Given the description of an element on the screen output the (x, y) to click on. 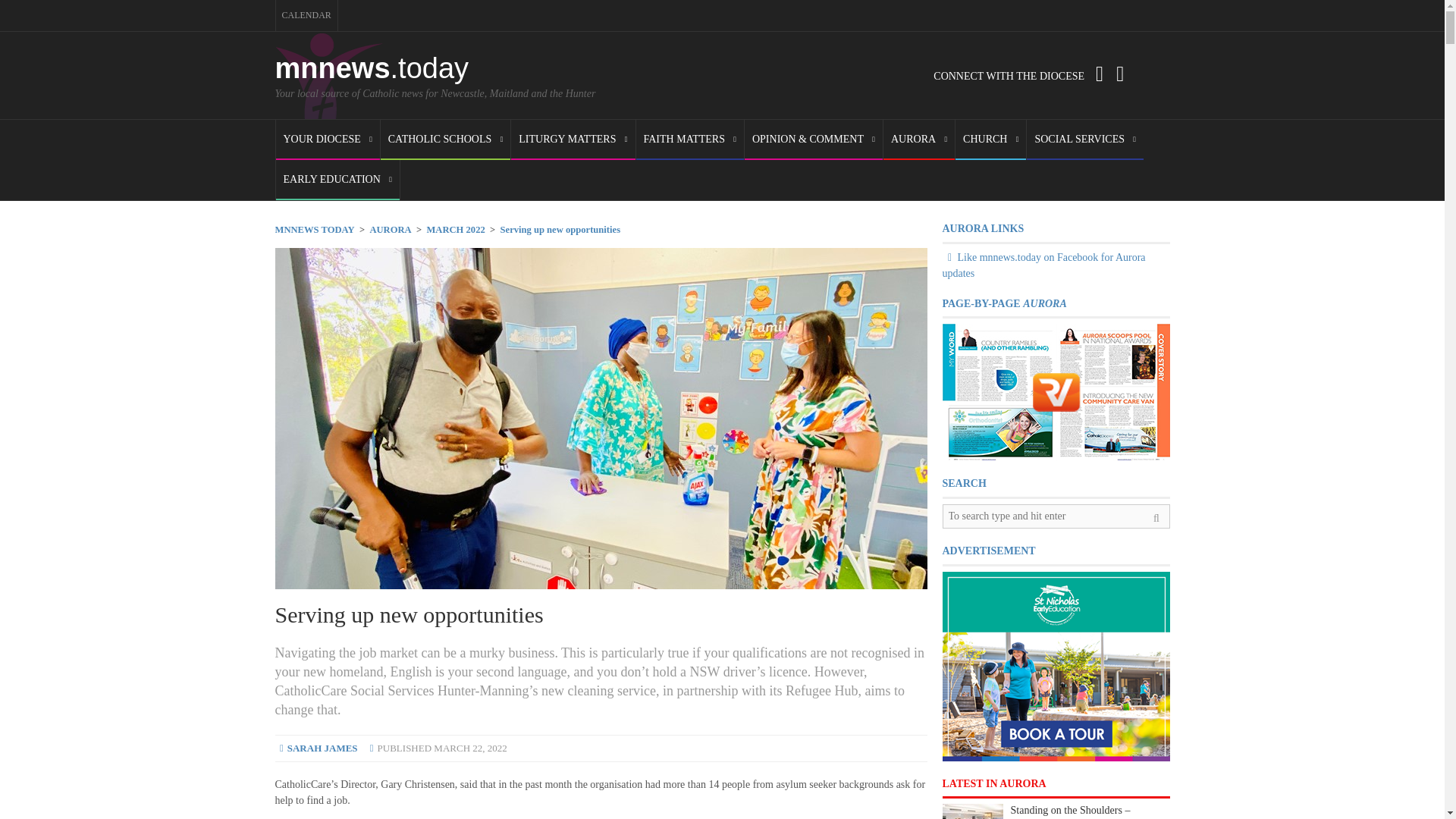
CATHOLIC SCHOOLS (445, 139)
LITURGY MATTERS (572, 139)
mnnews.today (371, 68)
CALENDAR (306, 15)
YOUR DIOCESE (328, 139)
